Given the description of an element on the screen output the (x, y) to click on. 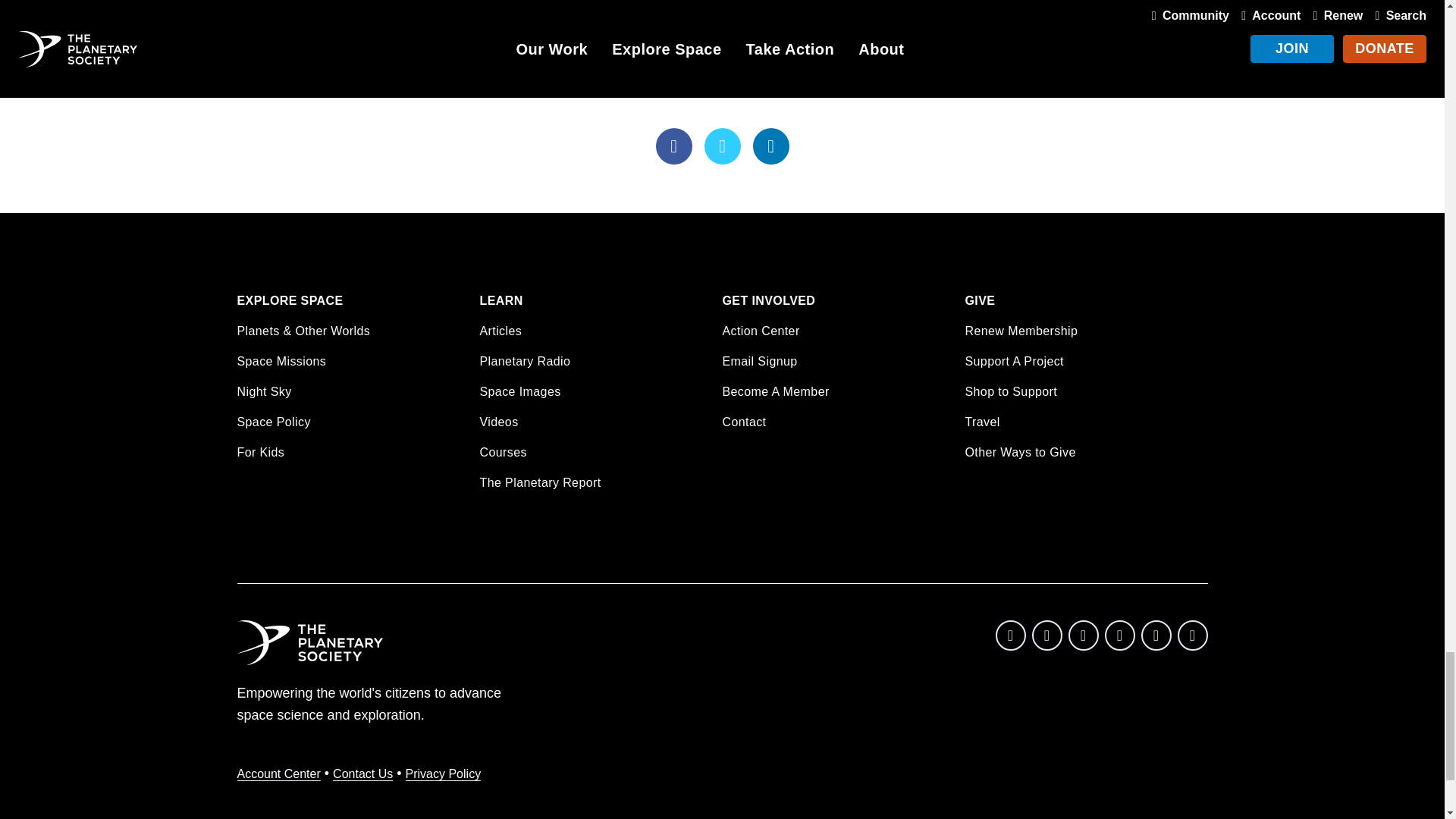
Subscribe (912, 40)
